Given the description of an element on the screen output the (x, y) to click on. 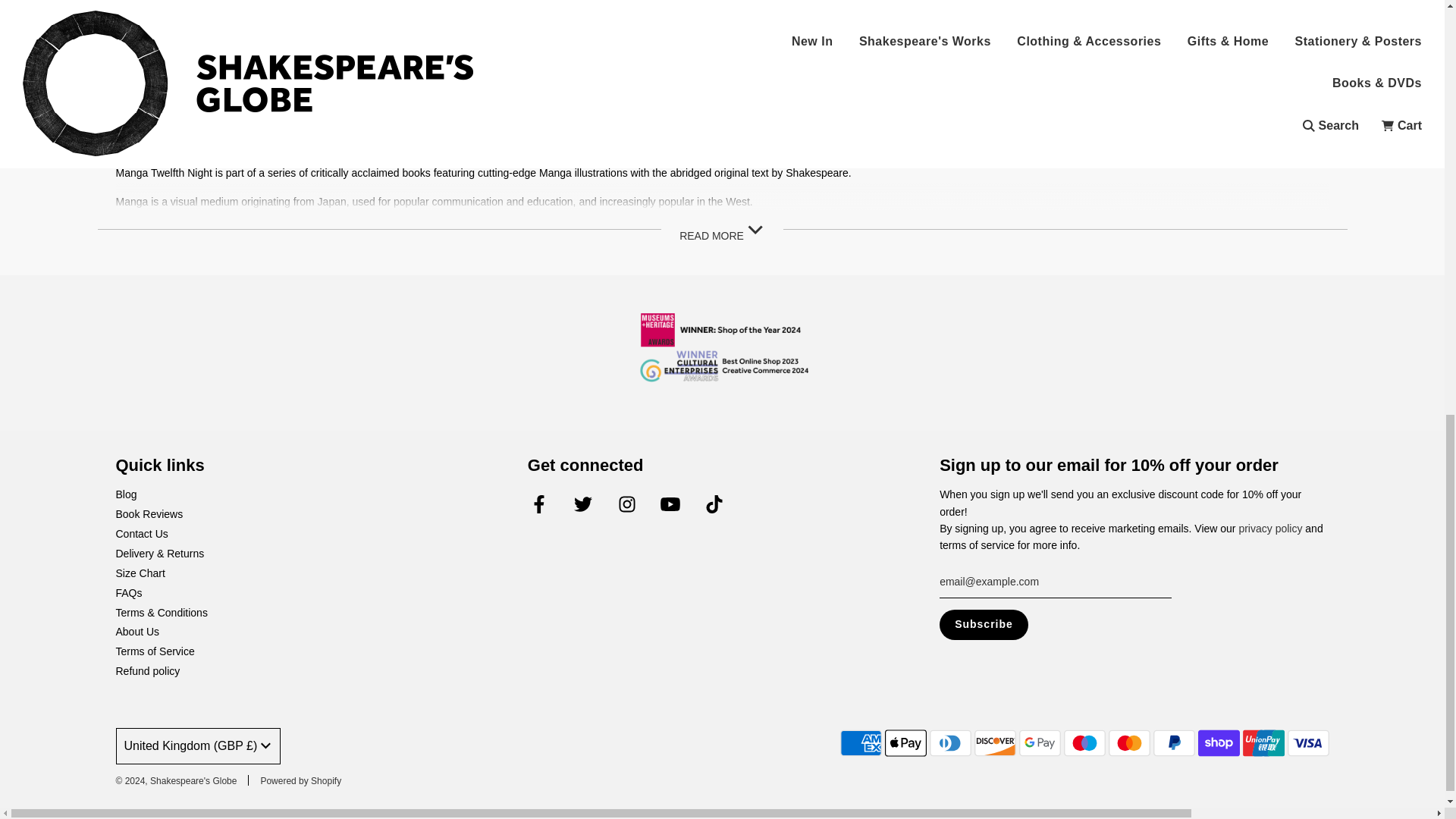
Subscribe (983, 624)
